Given the description of an element on the screen output the (x, y) to click on. 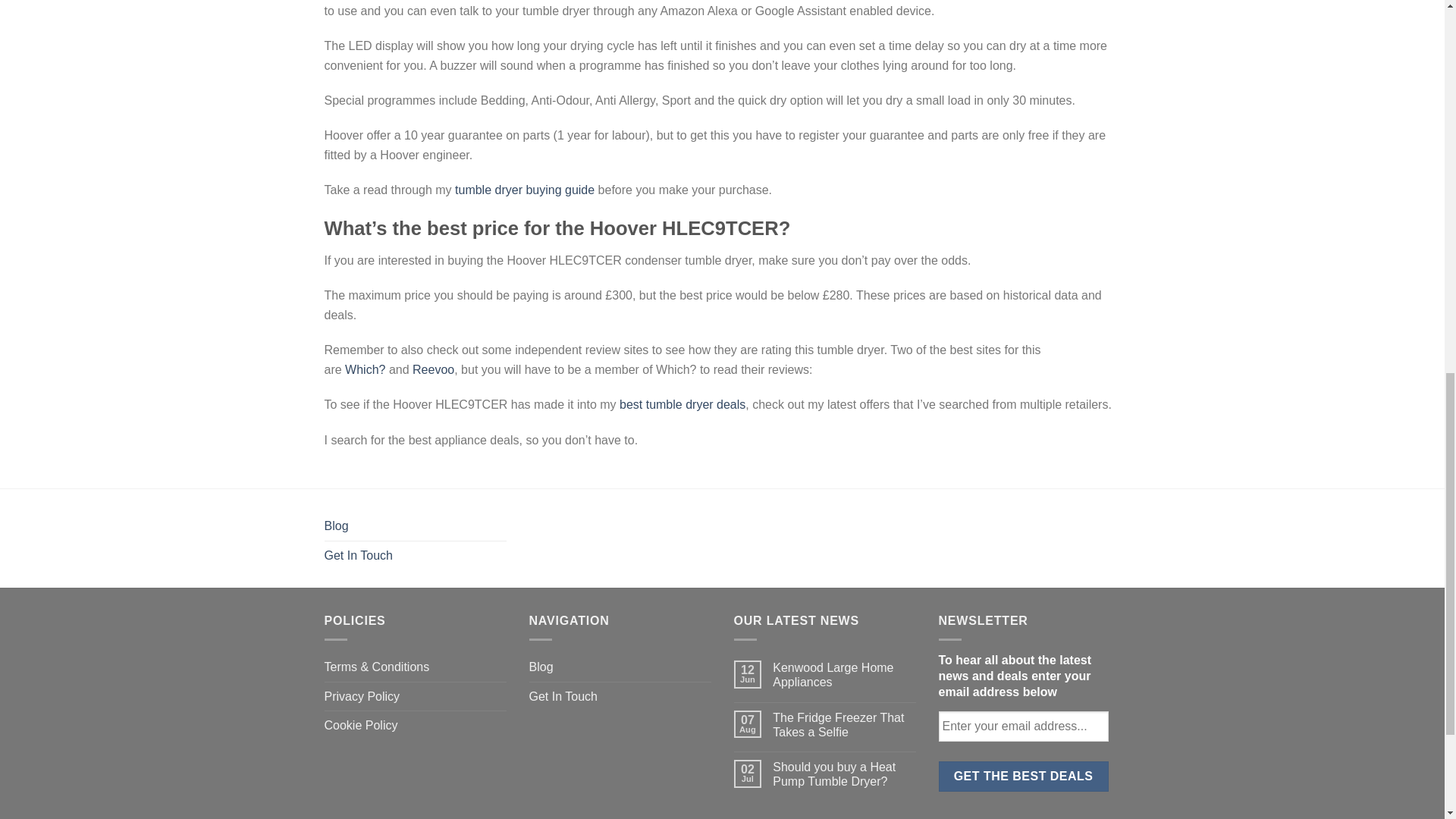
Get the Best Deals (1023, 776)
Kenwood Large Home Appliances (844, 674)
Should you buy a Heat Pump Tumble Dryer? (844, 774)
The Fridge Freezer That Takes a Selfie (844, 724)
